Given the description of an element on the screen output the (x, y) to click on. 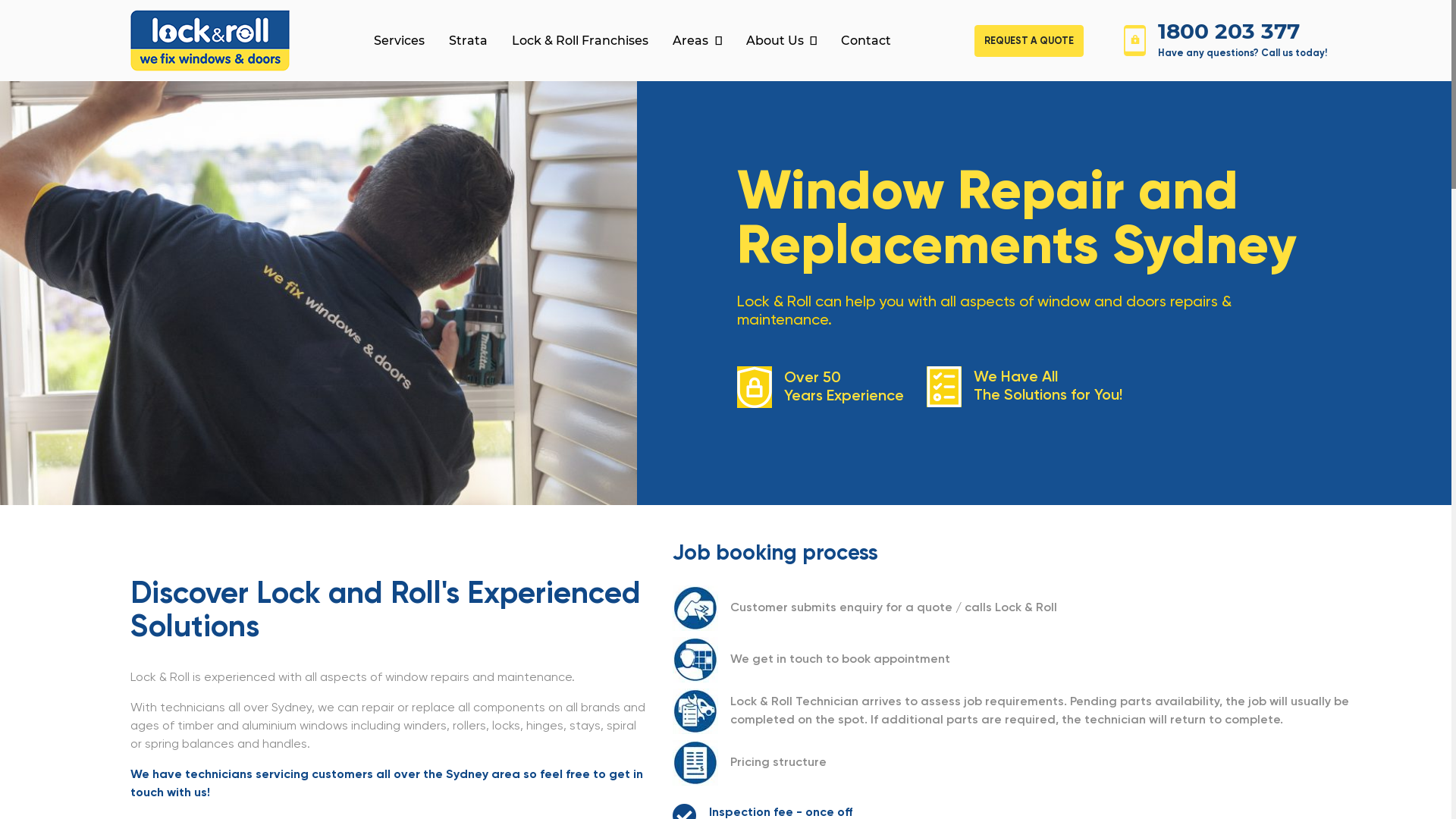
Areas Element type: text (696, 40)
Strata Element type: text (467, 40)
Lock & Roll Element type: hover (209, 40)
Lock & Roll Franchises Element type: text (579, 40)
About Us Element type: text (781, 40)
Contact Element type: text (865, 40)
Services Element type: text (398, 40)
1800 203 377
Have any questions? Call us today! Element type: text (1216, 40)
REQUEST A QUOTE Element type: text (1028, 40)
